Given the description of an element on the screen output the (x, y) to click on. 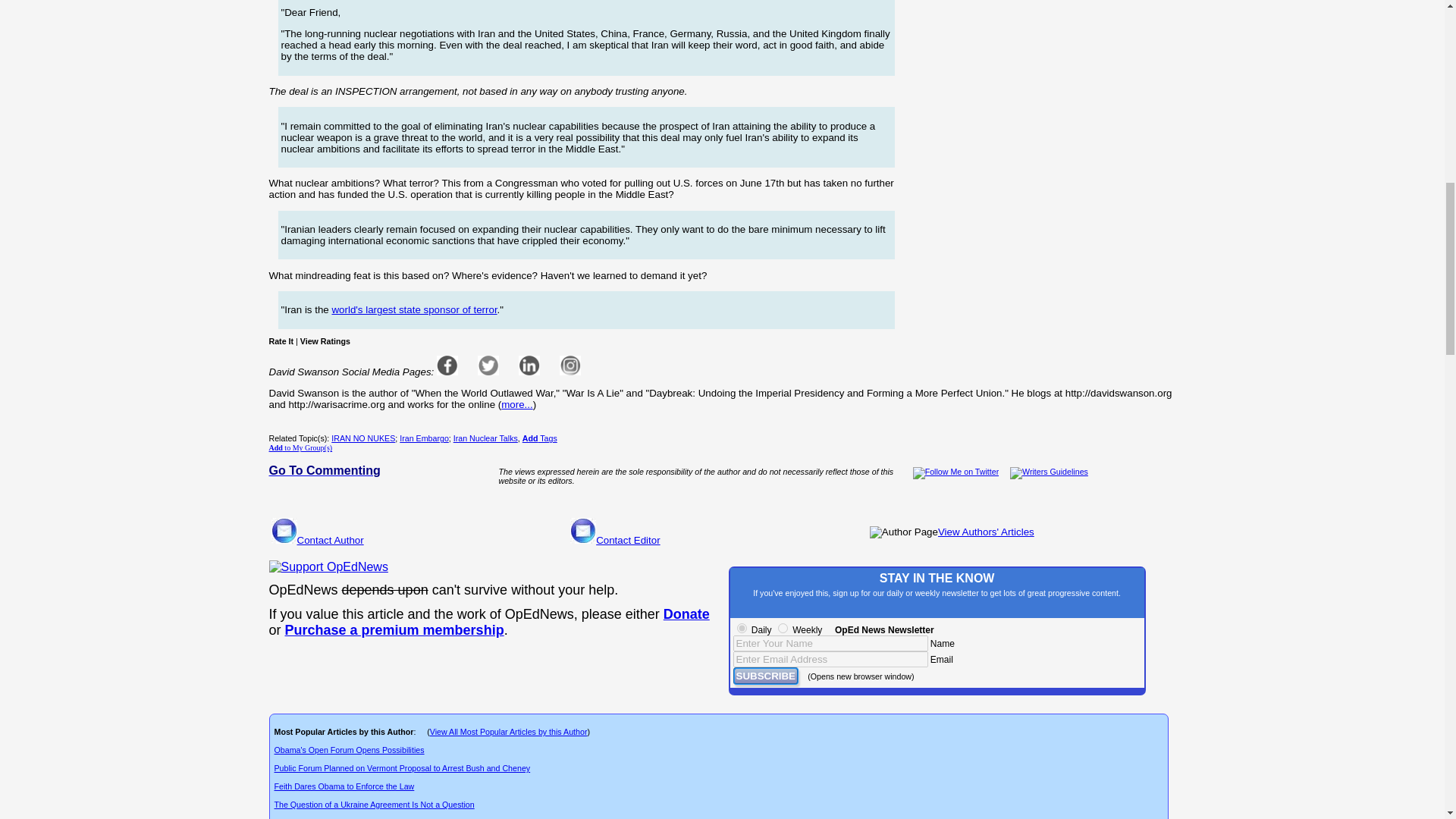
Enter Email Address (829, 659)
Enter Your Name (829, 643)
SUBSCRIBE (764, 675)
-- (686, 613)
Rate It (280, 340)
Follow Me on Twitter (955, 472)
Daily (741, 628)
Facebook page url on login Profile not filled in (447, 365)
Instagram page url on login Profile not filled in (569, 365)
Writers Guidelines (1048, 472)
